Given the description of an element on the screen output the (x, y) to click on. 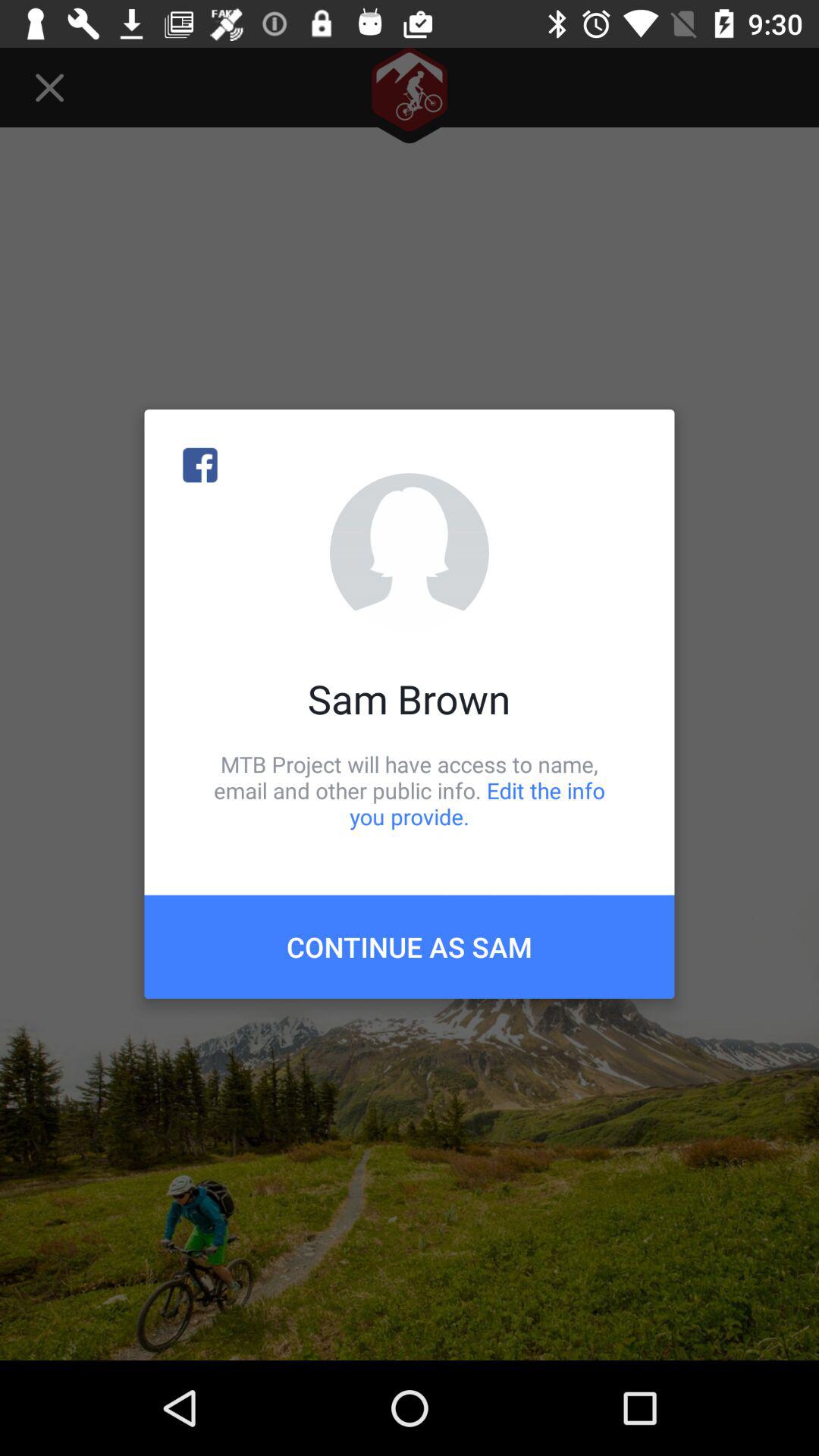
swipe until mtb project will item (409, 790)
